Given the description of an element on the screen output the (x, y) to click on. 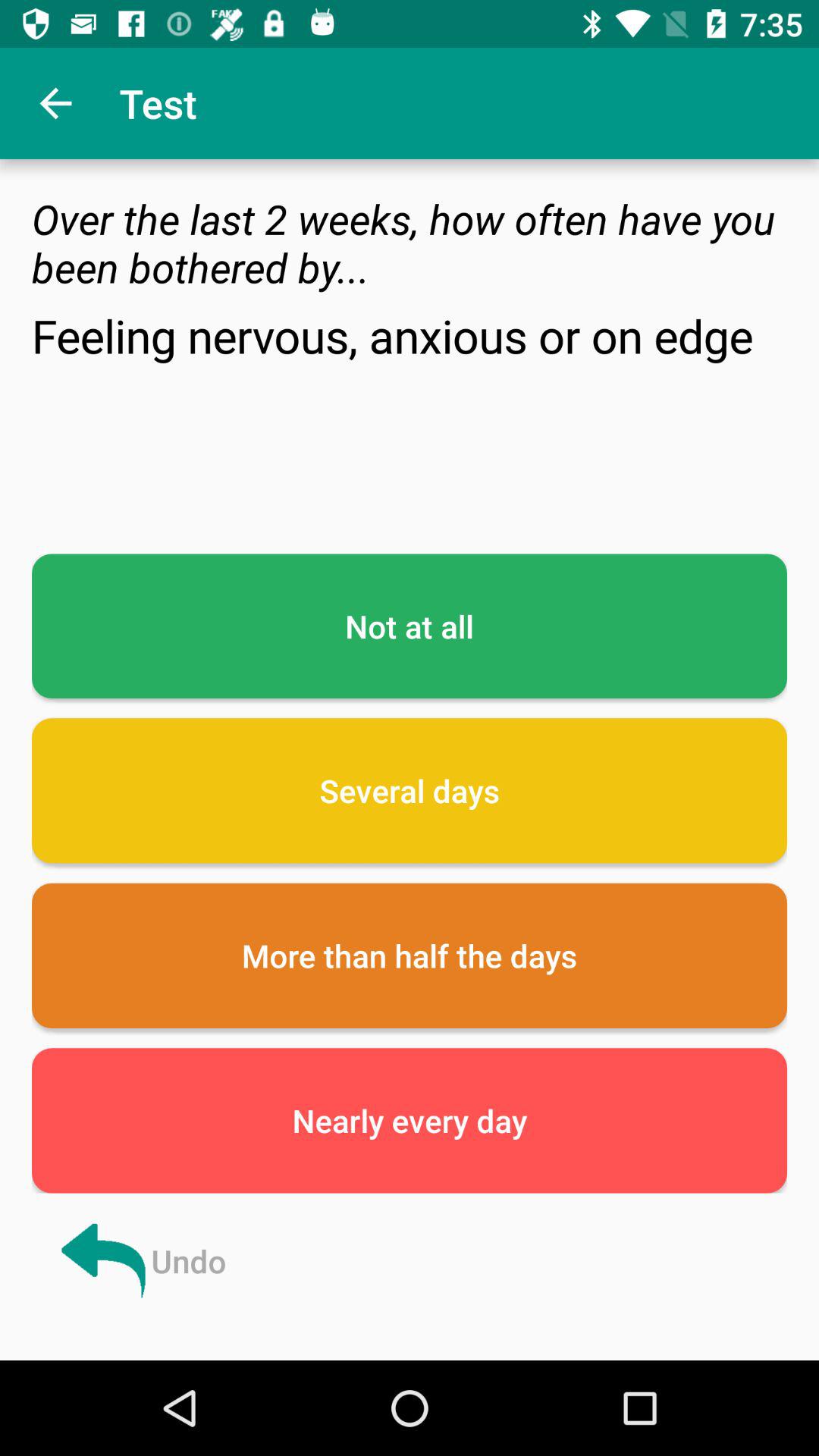
open the app to the left of the test icon (55, 103)
